Given the description of an element on the screen output the (x, y) to click on. 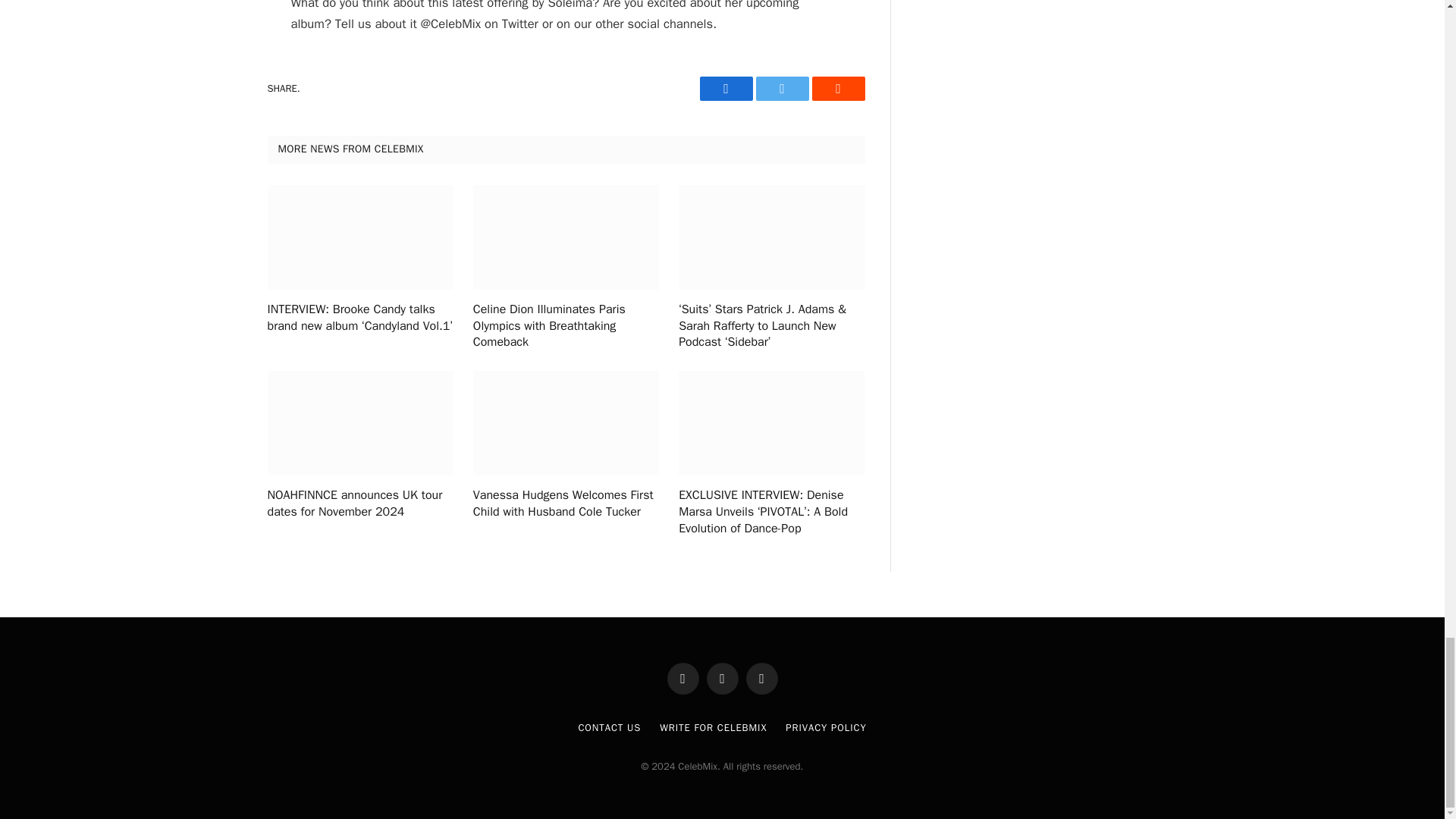
Twitter (781, 88)
Reddit (837, 88)
Facebook (725, 88)
NOAHFINNCE announces UK tour dates for November 2024 (359, 503)
